Given the description of an element on the screen output the (x, y) to click on. 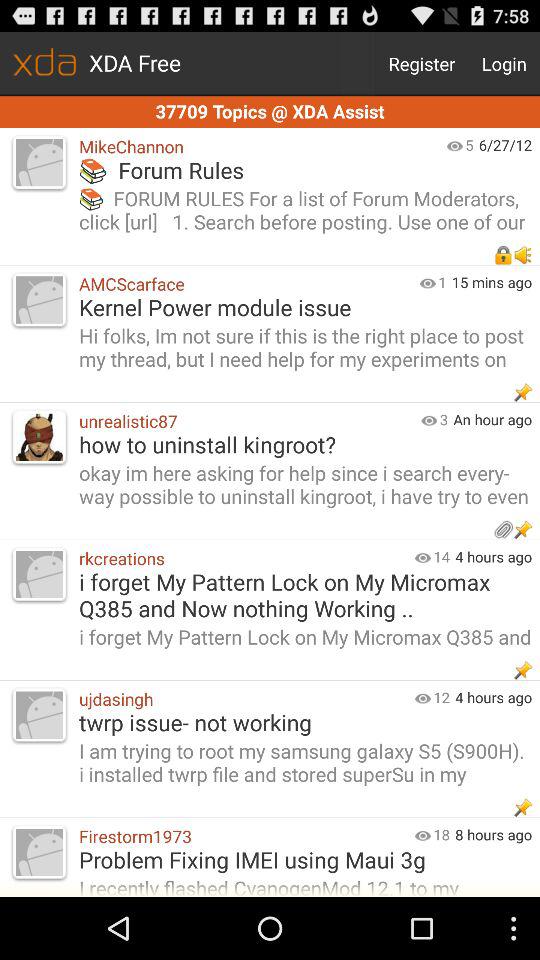
turn off the item next to the register icon (504, 63)
